Given the description of an element on the screen output the (x, y) to click on. 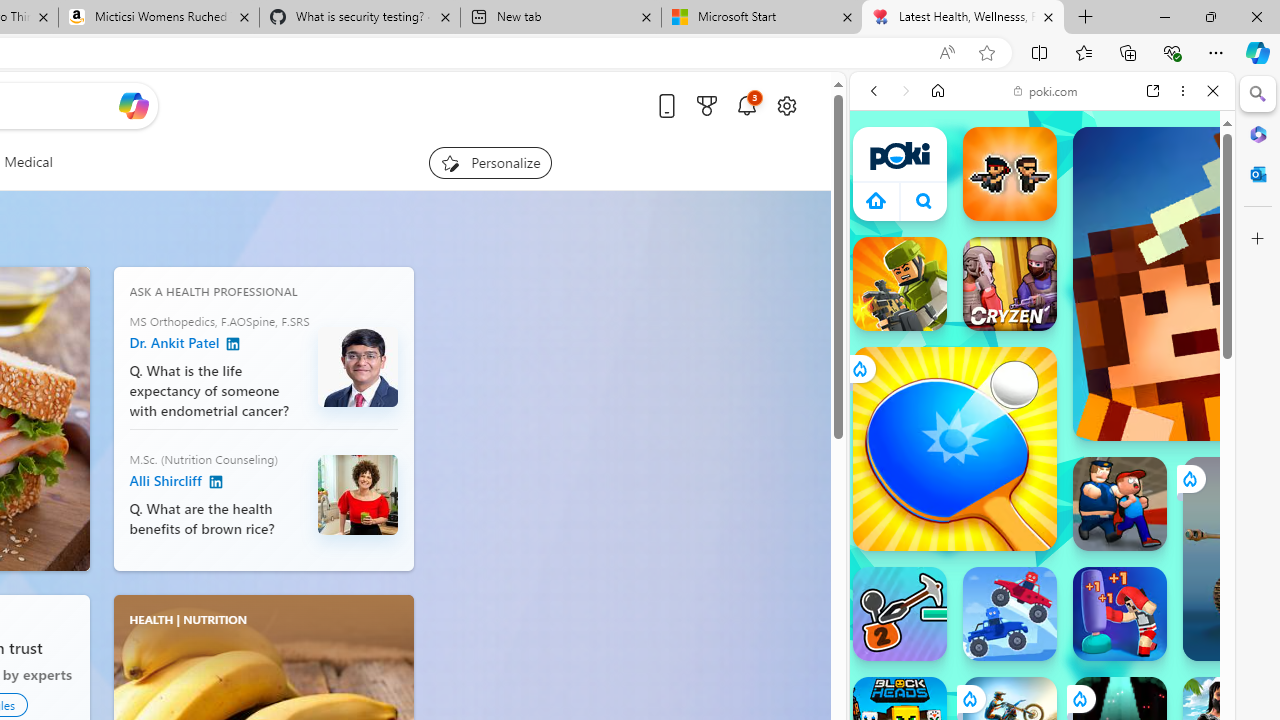
Next Slide (73, 418)
Cryzen.io (1009, 283)
Ping Pong Go! Ping Pong Go! (954, 448)
